Given the description of an element on the screen output the (x, y) to click on. 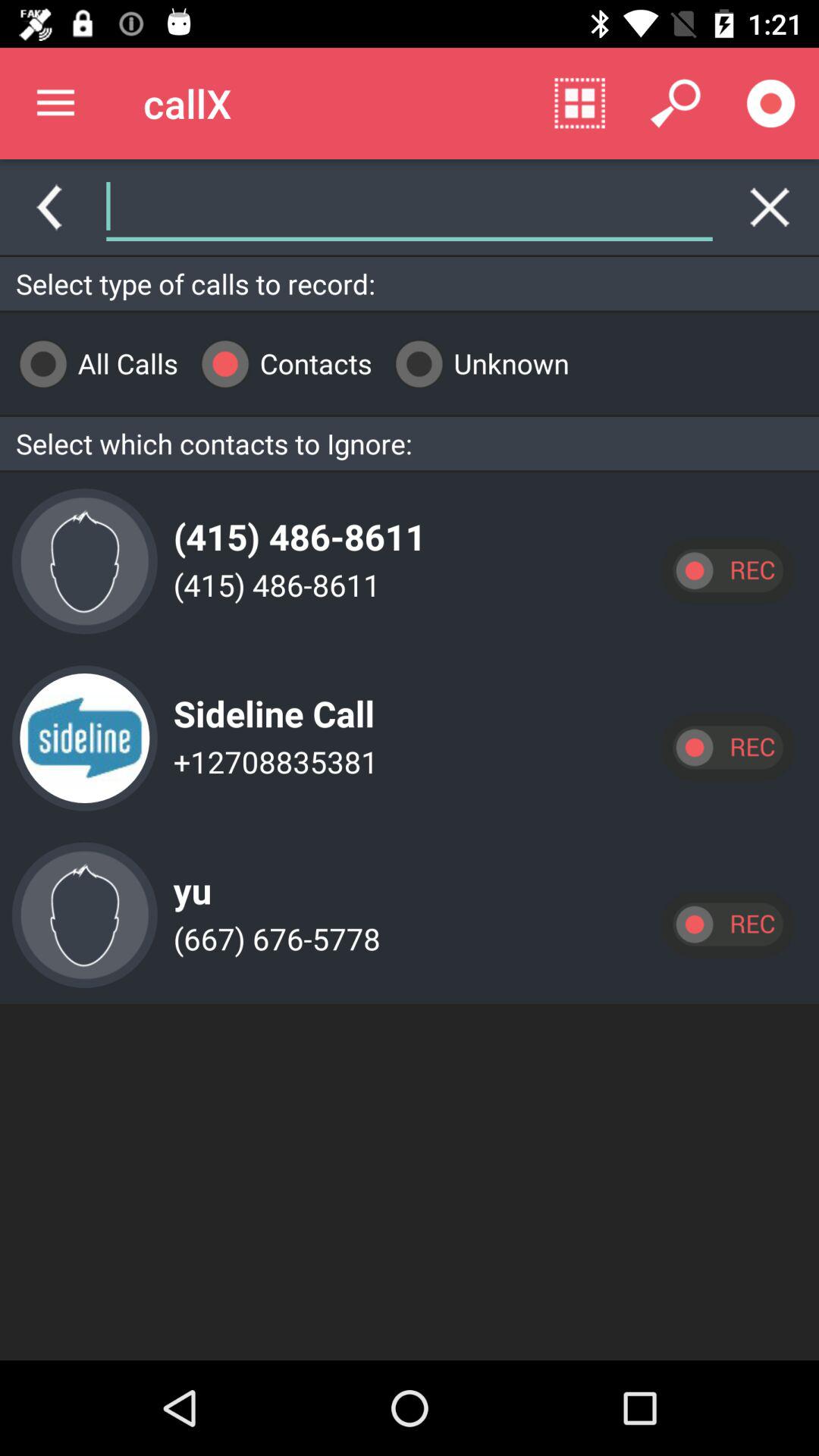
jump to +12708835381 item (271, 761)
